Given the description of an element on the screen output the (x, y) to click on. 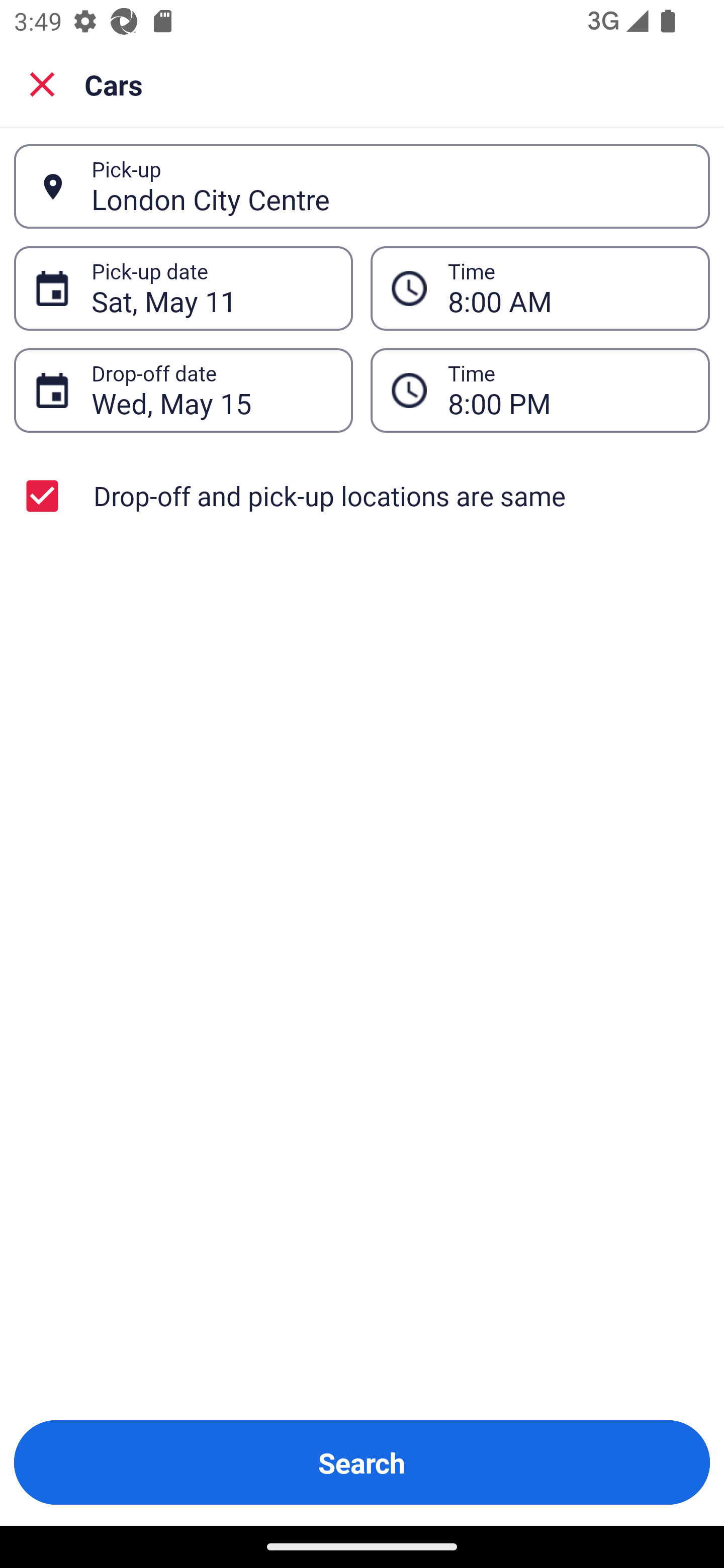
Close search screen (41, 83)
London City Centre Pick-up (361, 186)
London City Centre (389, 186)
Sat, May 11 Pick-up date (183, 288)
8:00 AM (540, 288)
Sat, May 11 (211, 288)
8:00 AM (568, 288)
Wed, May 15 Drop-off date (183, 390)
8:00 PM (540, 390)
Wed, May 15 (211, 390)
8:00 PM (568, 390)
Drop-off and pick-up locations are same (361, 495)
Search Button Search (361, 1462)
